Given the description of an element on the screen output the (x, y) to click on. 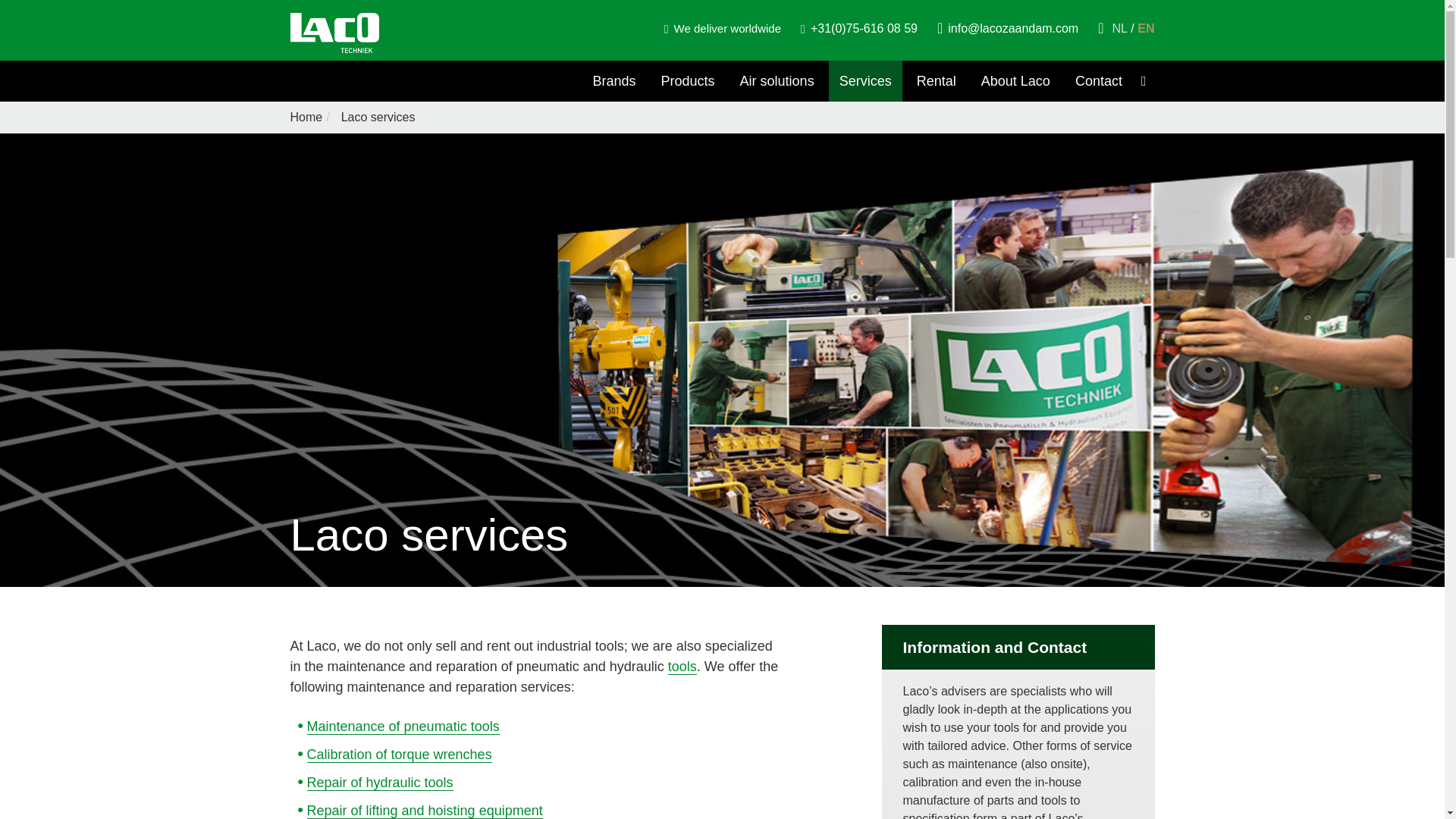
NL (1123, 28)
EN (1145, 28)
home (305, 116)
